Given the description of an element on the screen output the (x, y) to click on. 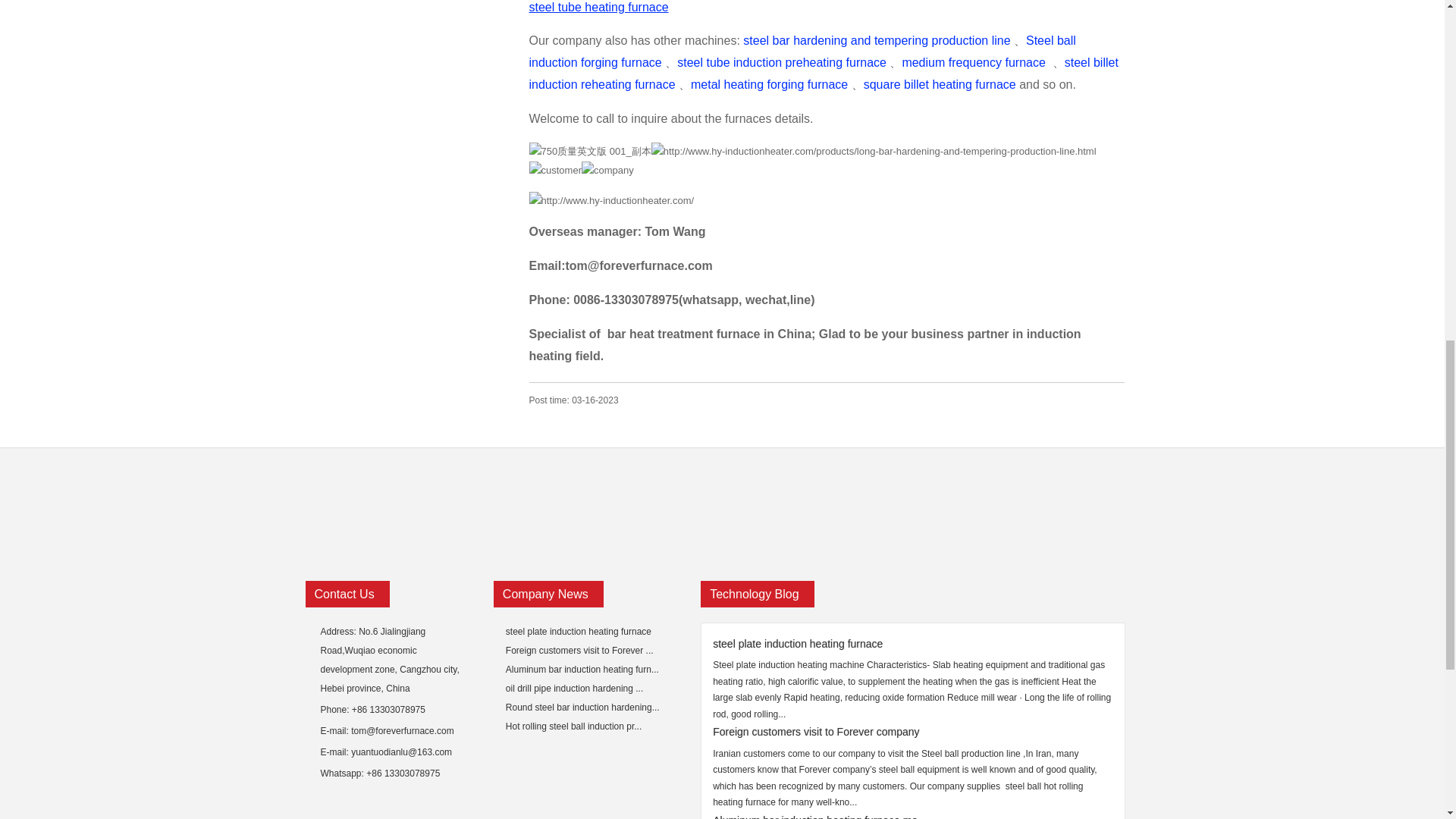
steel bar hardening and tempering production line (876, 40)
steel tube heating furnace (598, 6)
steel tube induction preheating furnace (781, 62)
Steel ball induction forging furnace (802, 51)
